Given the description of an element on the screen output the (x, y) to click on. 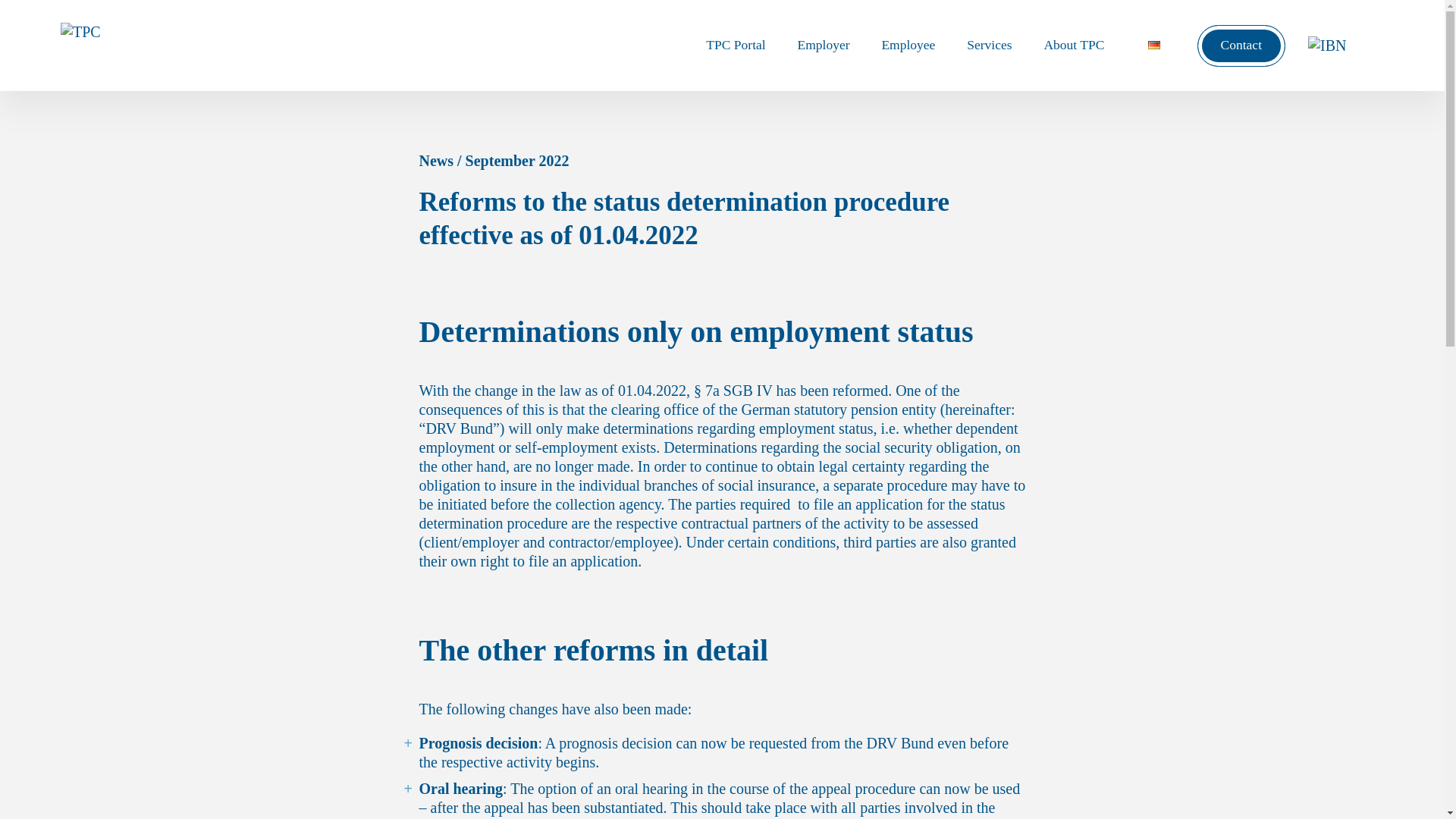
TPC Portal (736, 45)
Contact (1240, 45)
News (435, 160)
Services (988, 45)
About TPC (1073, 45)
Employer (823, 45)
Employee (908, 45)
